Given the description of an element on the screen output the (x, y) to click on. 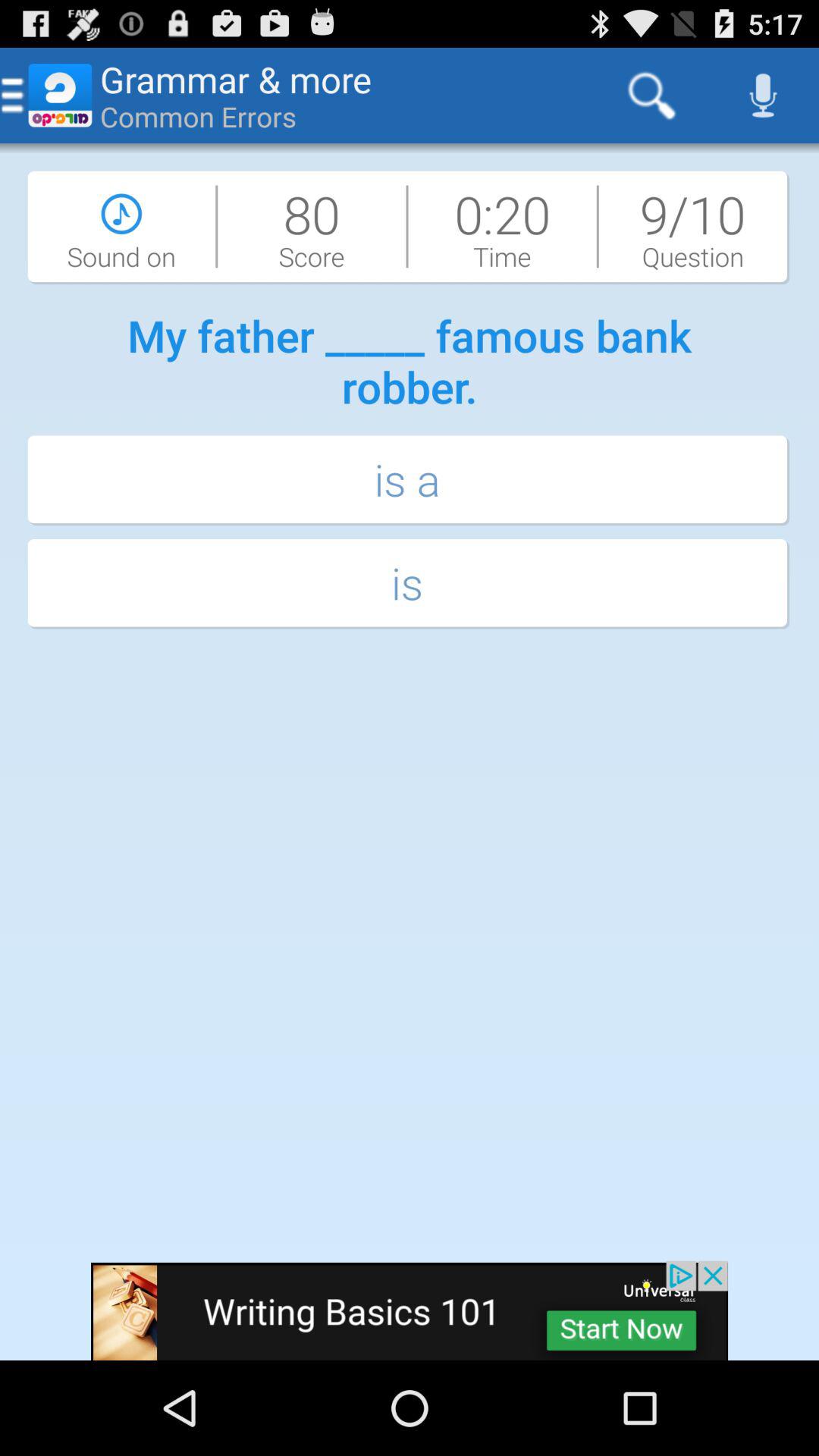
advertisement for writing (409, 1310)
